Given the description of an element on the screen output the (x, y) to click on. 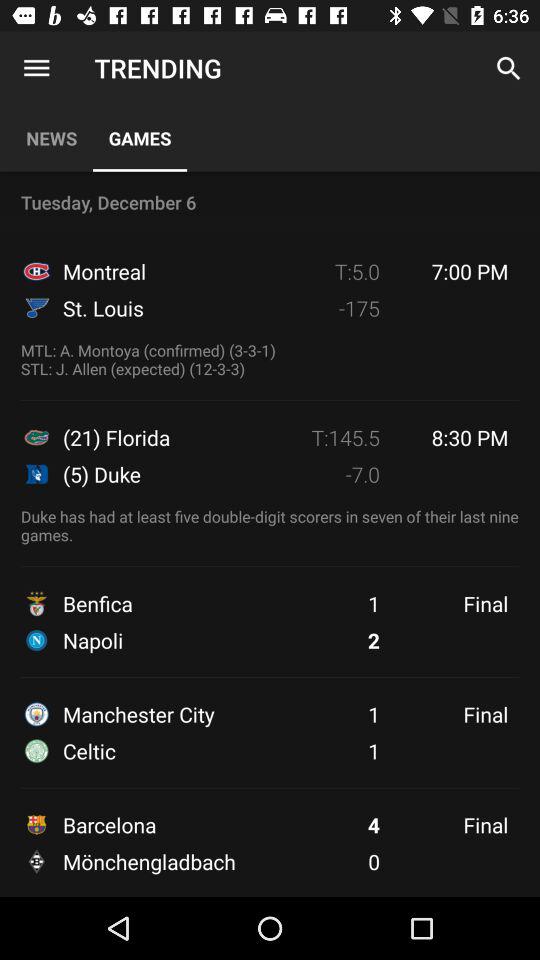
click the icon above the tuesday, december 6 icon (51, 138)
